Given the description of an element on the screen output the (x, y) to click on. 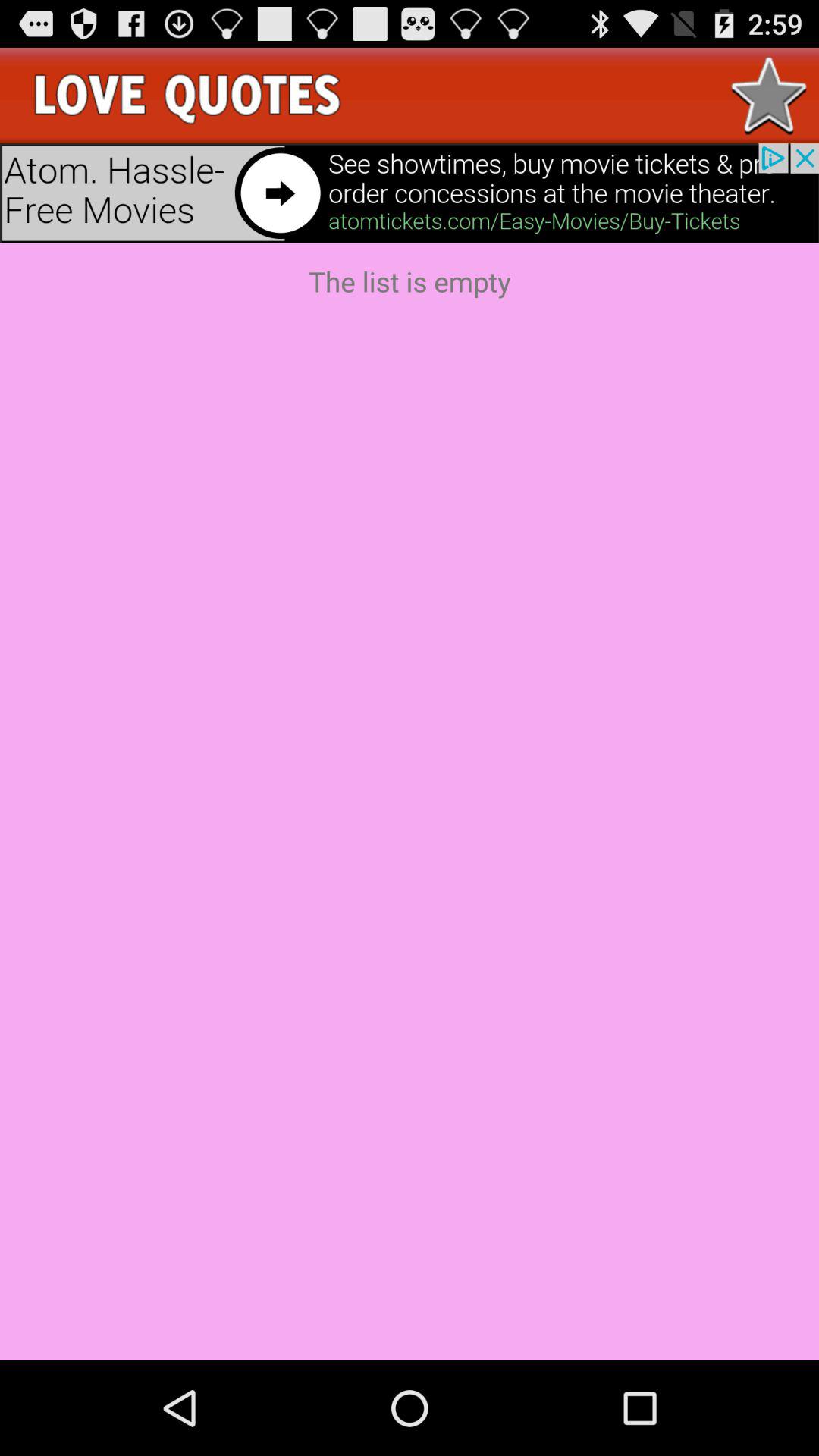
add to favorites (768, 95)
